Given the description of an element on the screen output the (x, y) to click on. 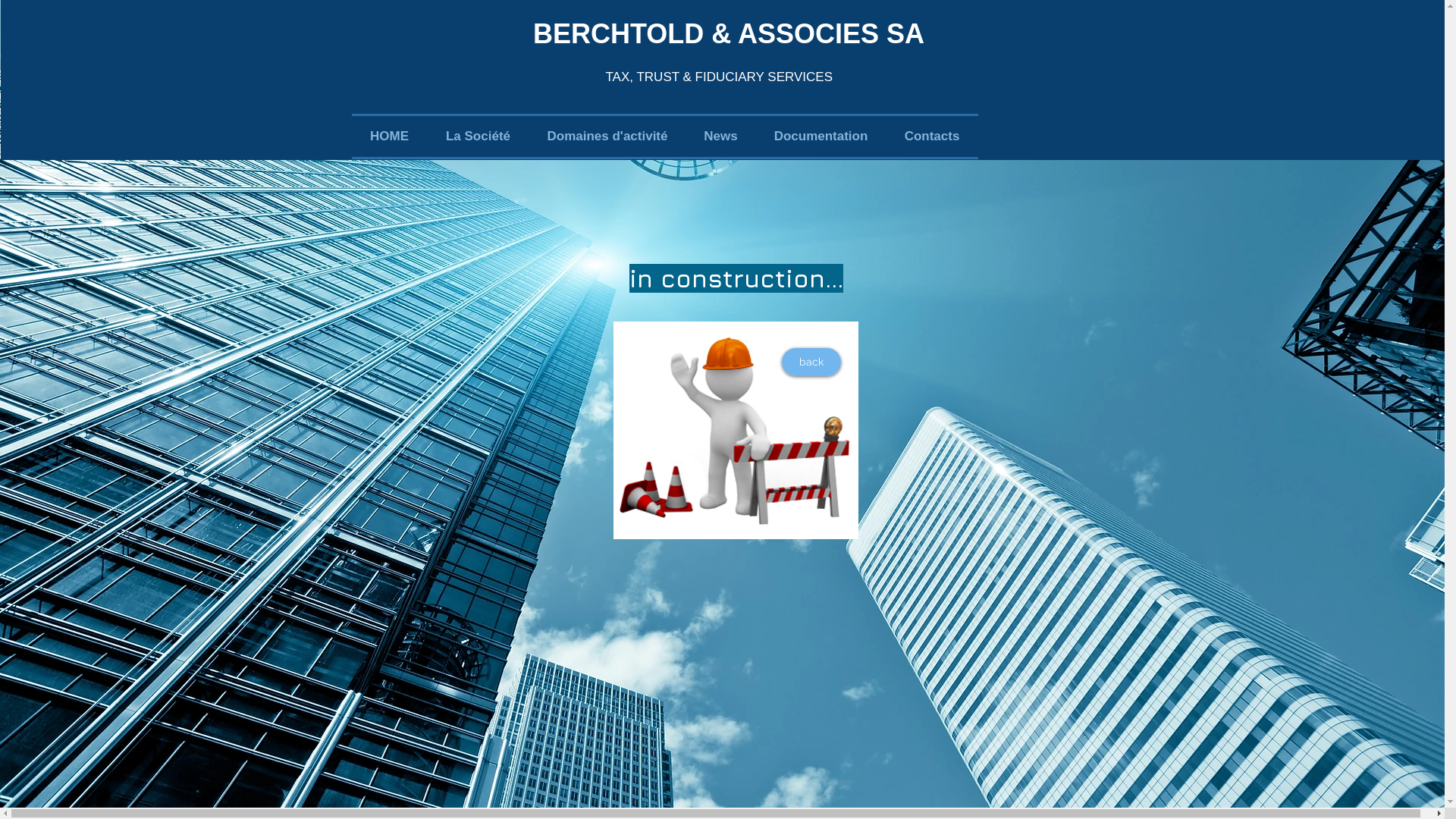
Documentation Element type: text (820, 136)
News Element type: text (720, 136)
BERCHTOLD Element type: text (618, 33)
back Element type: text (810, 362)
HOME Element type: text (389, 136)
Contacts Element type: text (931, 136)
